Given the description of an element on the screen output the (x, y) to click on. 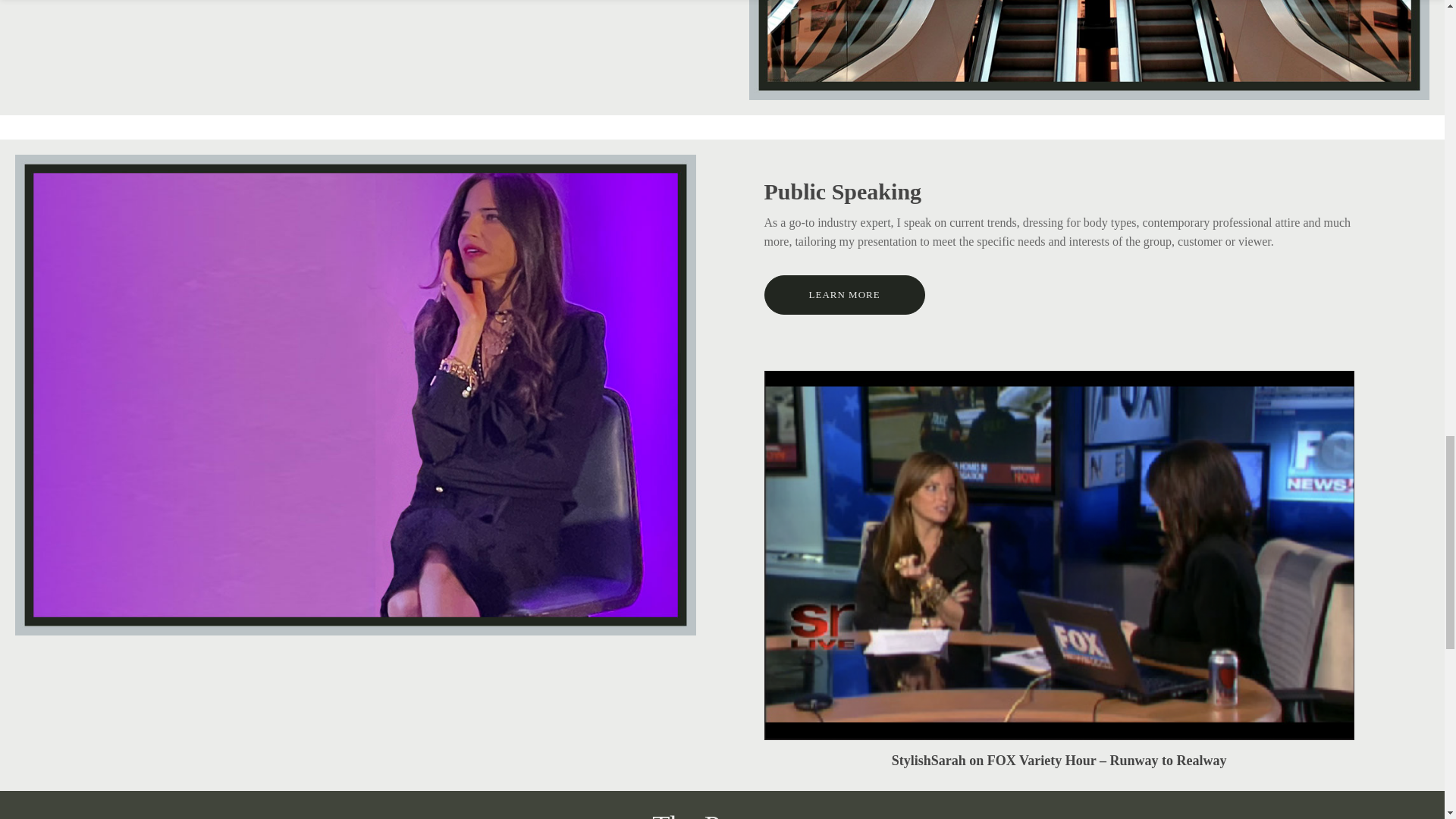
LEARN MORE (844, 294)
